Given the description of an element on the screen output the (x, y) to click on. 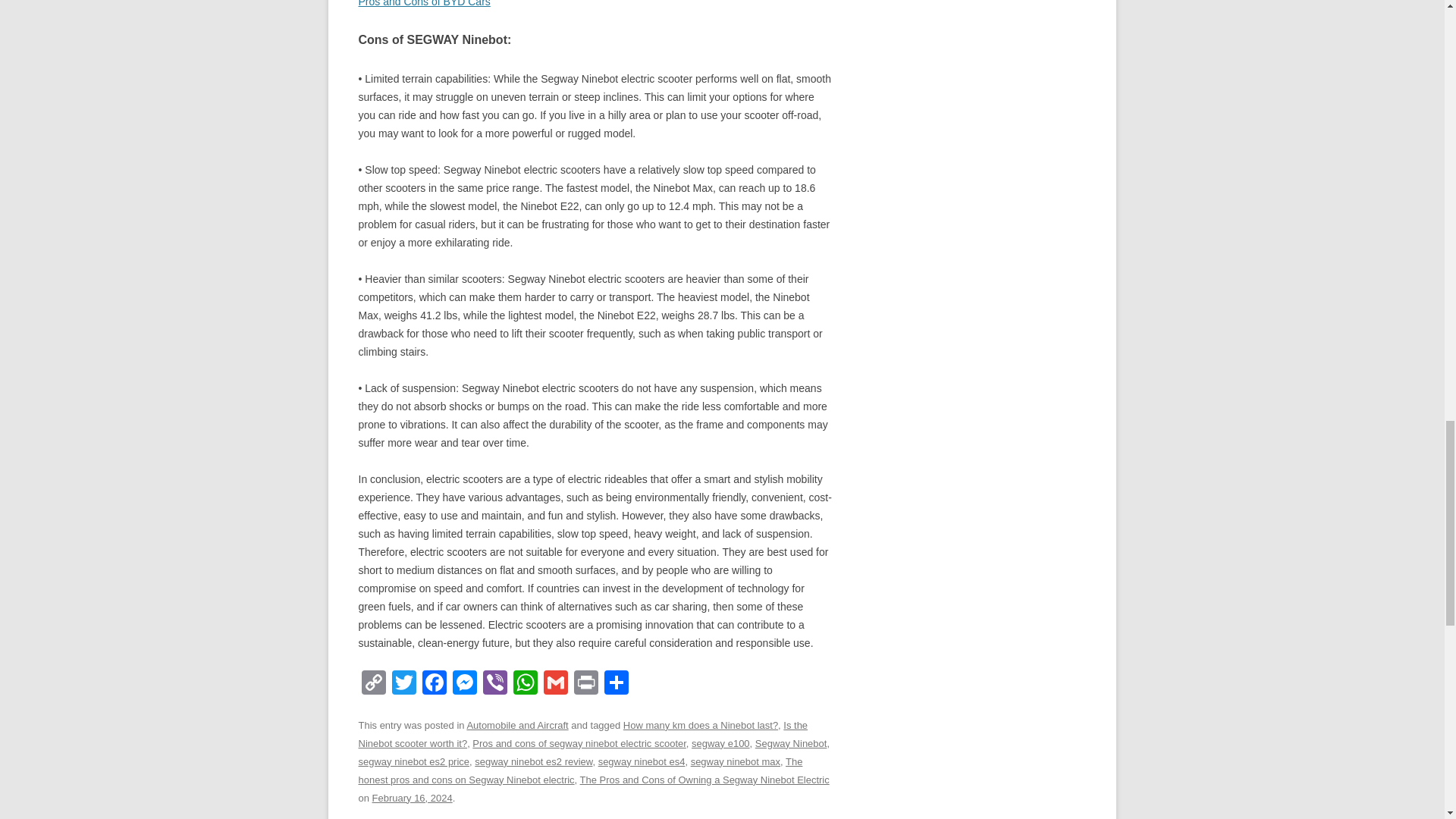
Segway Ninebot (791, 743)
Is the Ninebot scooter worth it? (583, 734)
Gmail (555, 684)
Pros and cons of segway ninebot electric scooter (578, 743)
How many km does a Ninebot last? (700, 725)
segway ninebot es4 (641, 761)
segway ninebot es2 price (413, 761)
February 16, 2024 (412, 797)
Gmail (555, 684)
Automobile and Aircraft (516, 725)
